Given the description of an element on the screen output the (x, y) to click on. 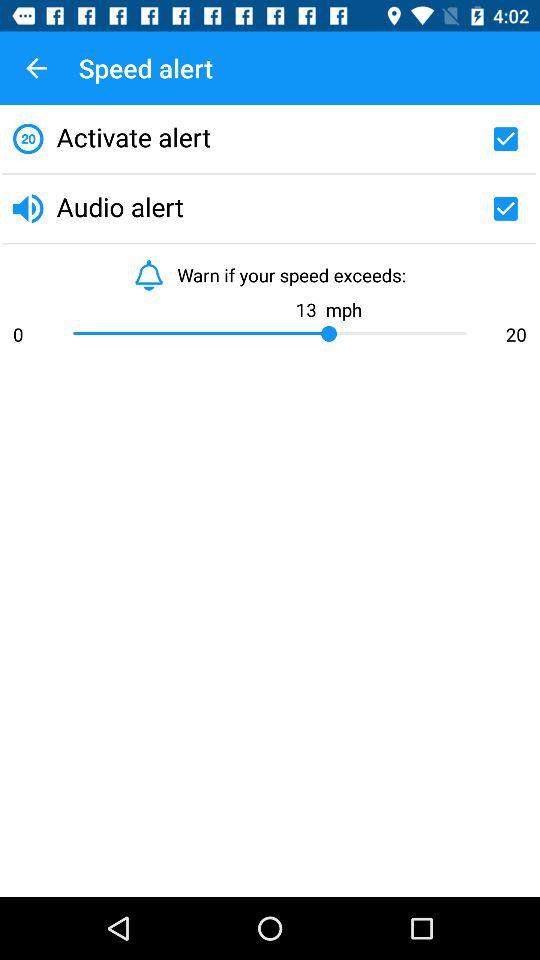
check activate alert option (505, 139)
